Given the description of an element on the screen output the (x, y) to click on. 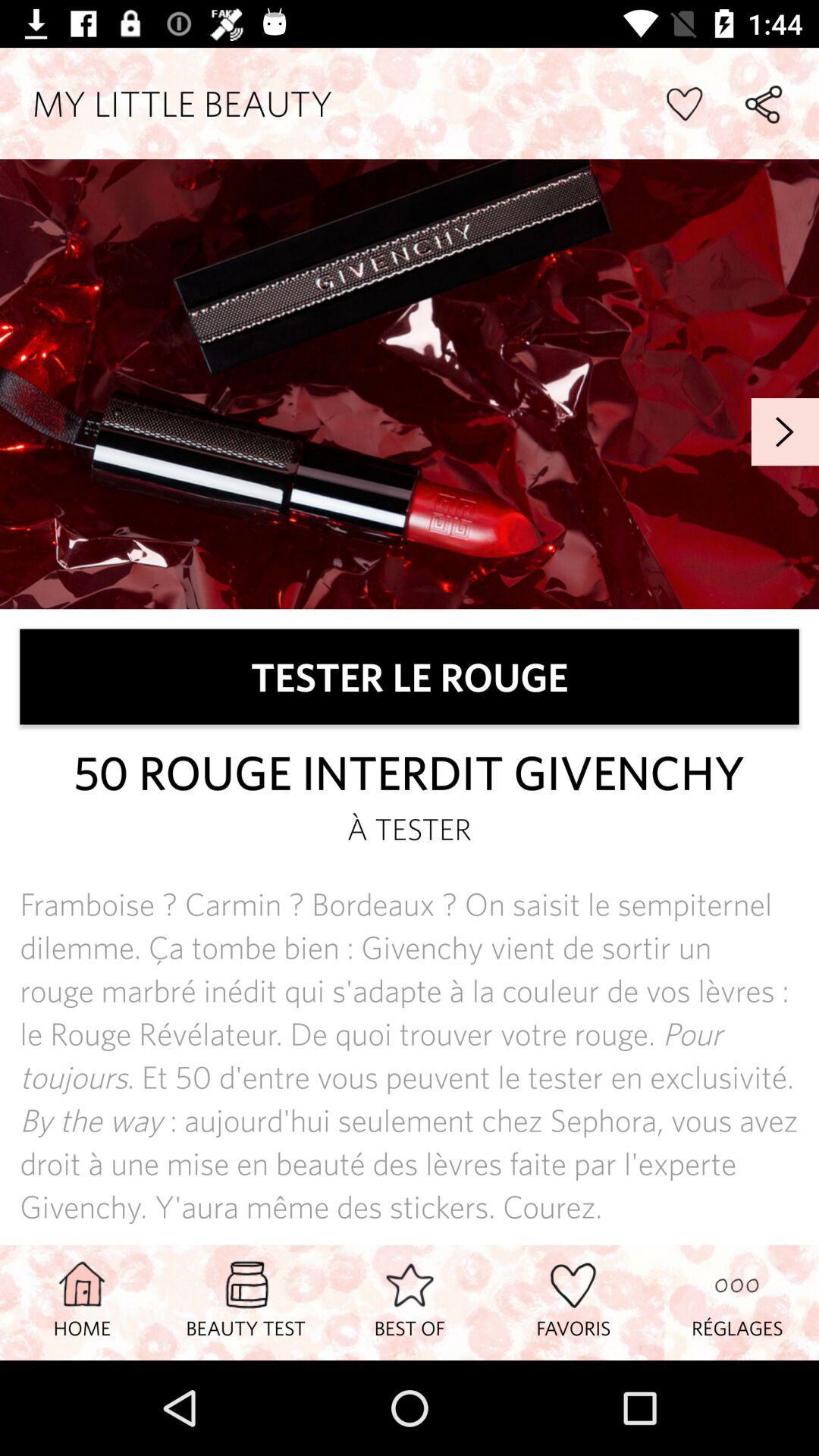
flip to the framboise carmin bordeaux item (409, 1055)
